Given the description of an element on the screen output the (x, y) to click on. 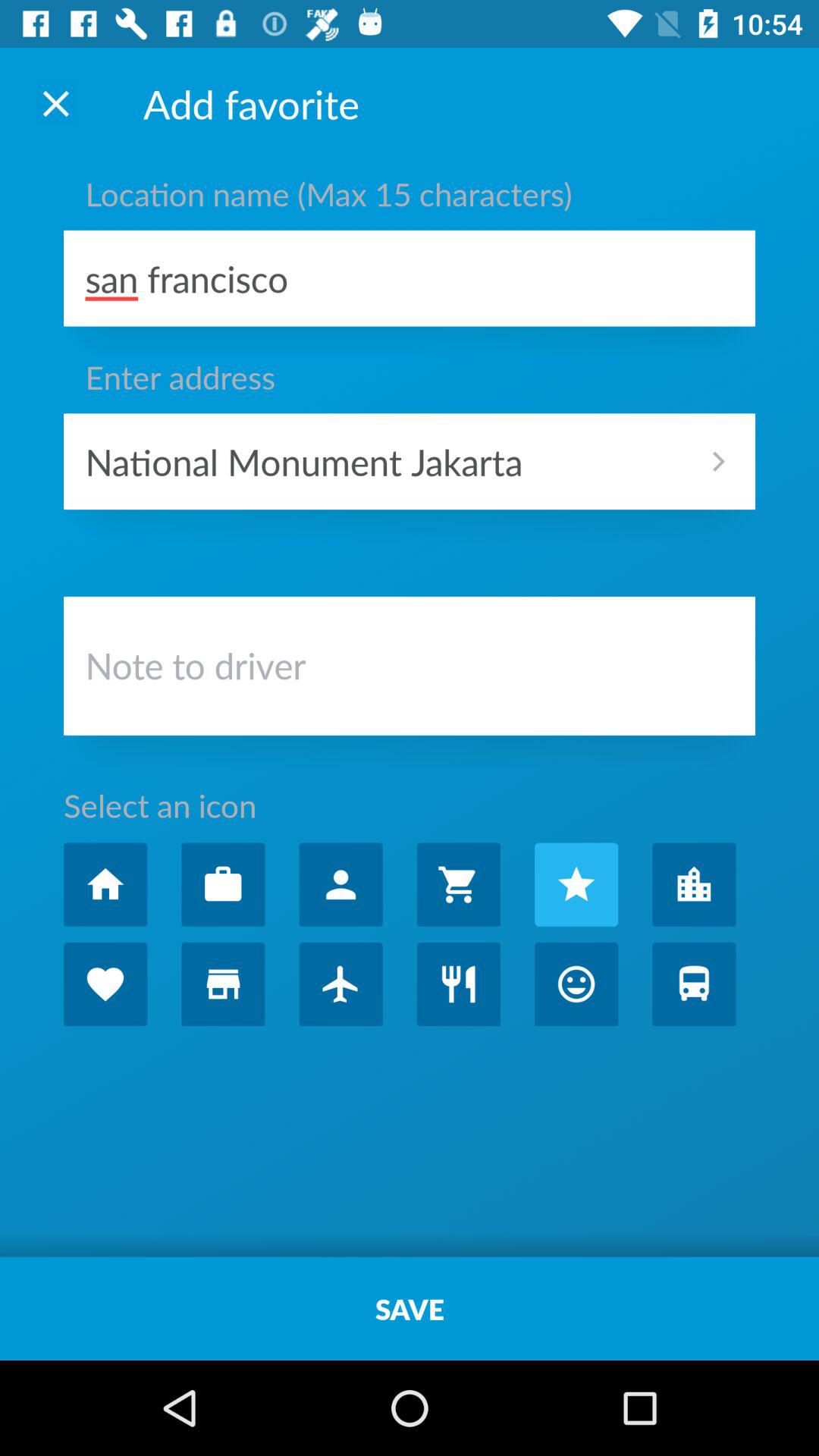
home button (105, 884)
